Given the description of an element on the screen output the (x, y) to click on. 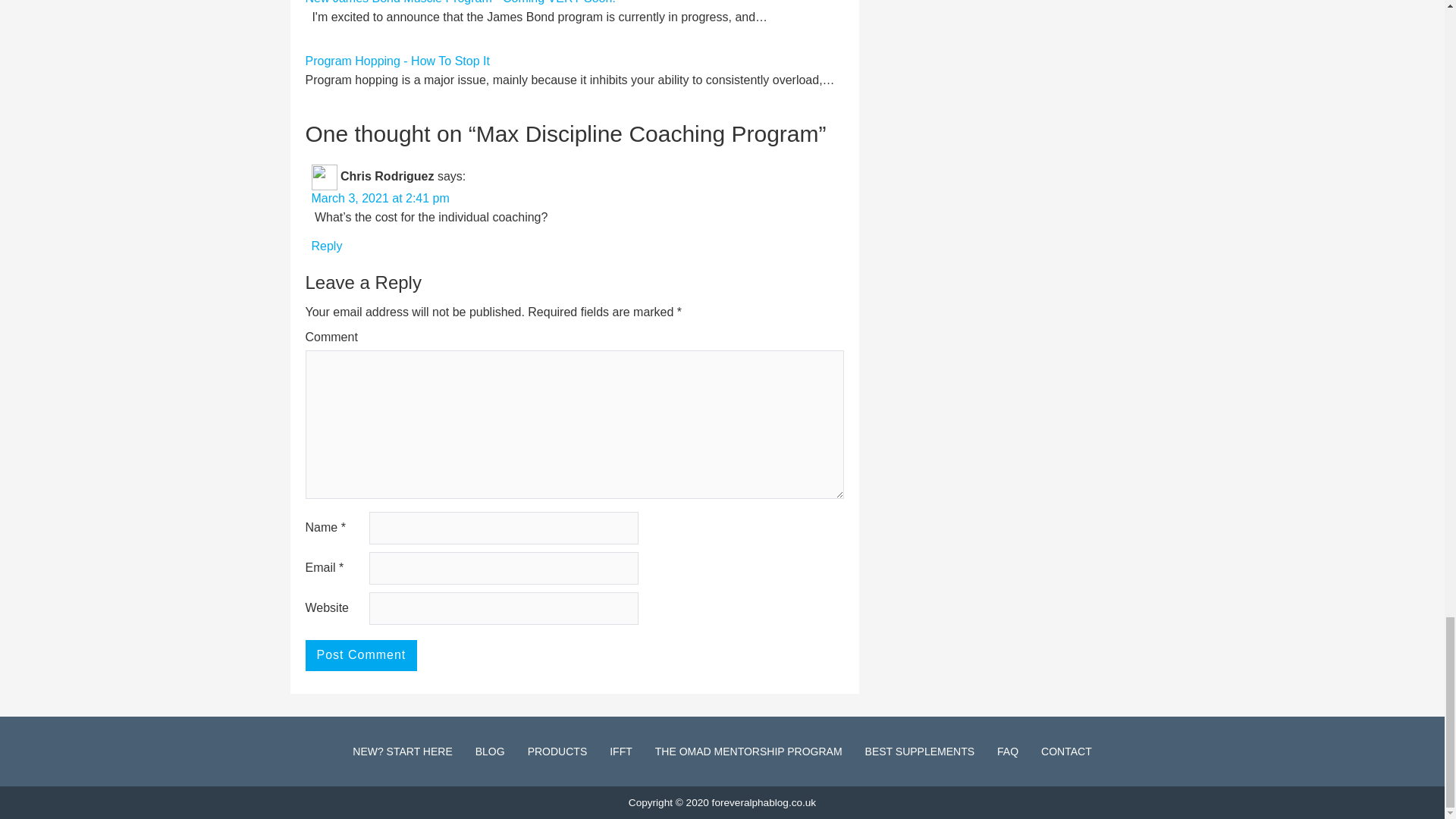
IFFT (620, 751)
Program Hopping - How To Stop It (396, 60)
BEST SUPPLEMENTS (919, 751)
CONTACT (1066, 751)
Post Comment (360, 654)
BLOG (490, 751)
Post Comment (360, 654)
NEW? START HERE (401, 751)
FAQ (1007, 751)
New James Bond Muscle Program - Coming VERY Soon! (459, 2)
March 3, 2021 at 2:41 pm (379, 197)
PRODUCTS (557, 751)
THE OMAD MENTORSHIP PROGRAM (749, 751)
Reply (326, 245)
